Given the description of an element on the screen output the (x, y) to click on. 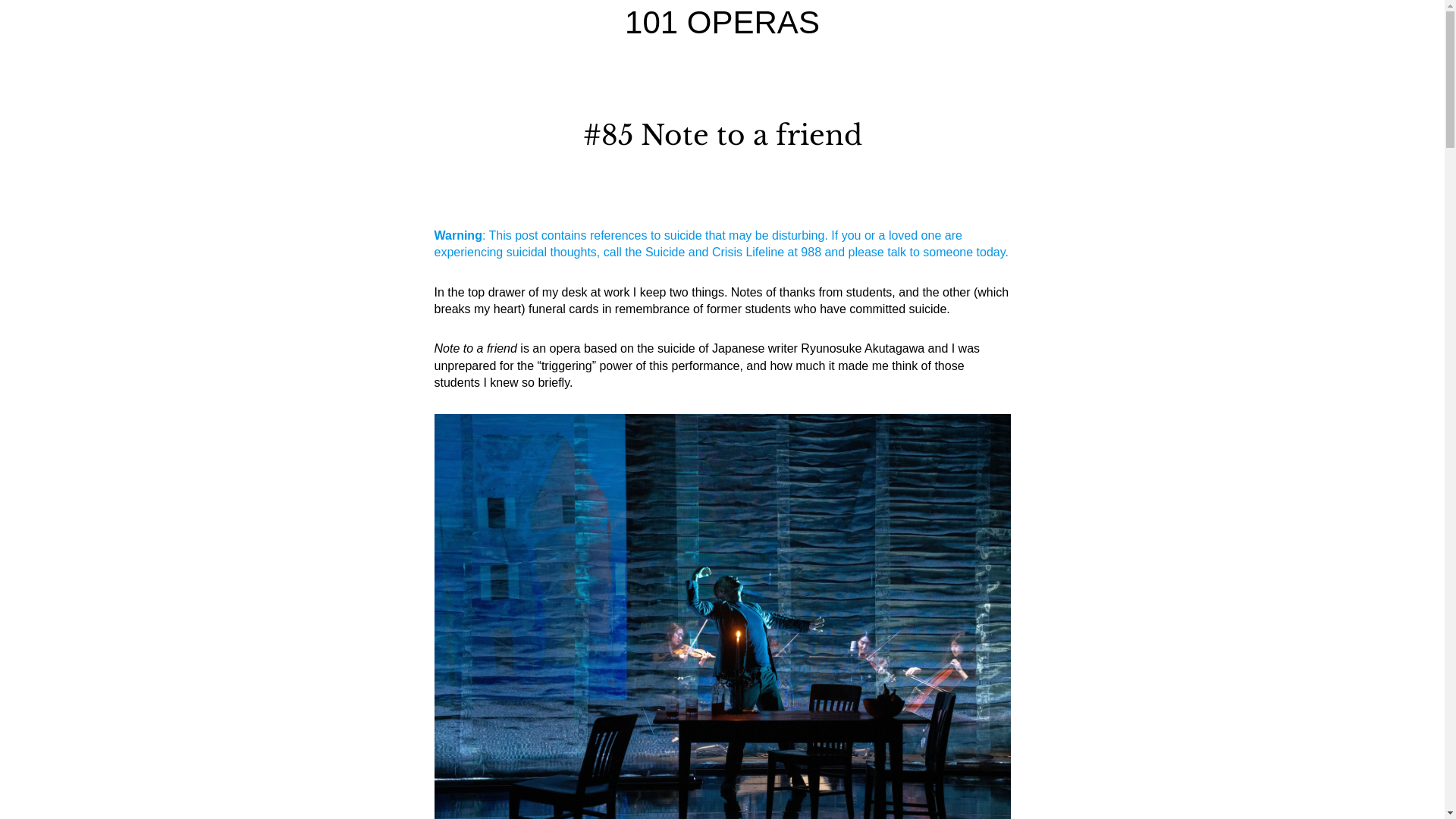
101 OPERAS Element type: text (721, 22)
